Given the description of an element on the screen output the (x, y) to click on. 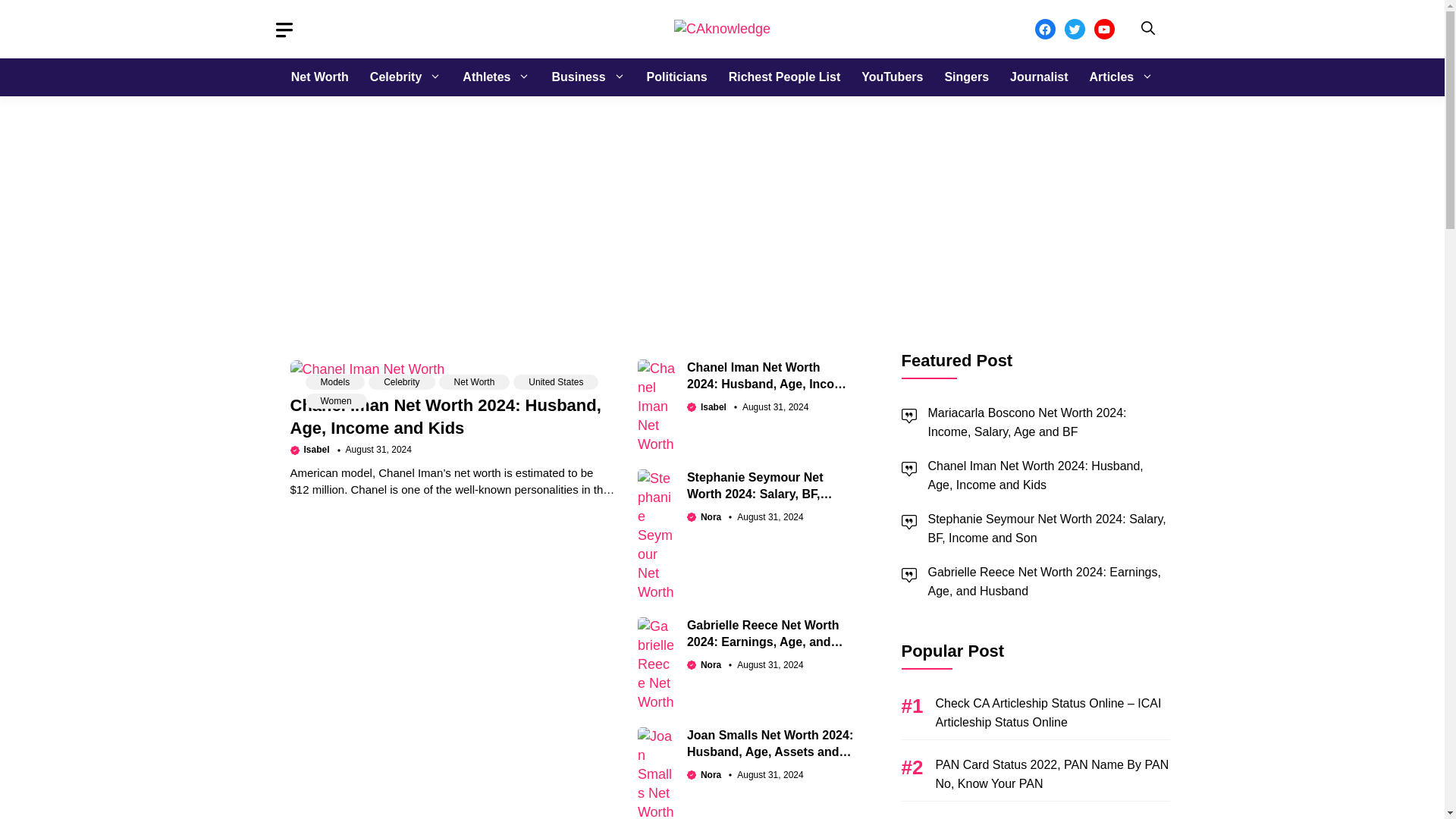
CA - Home Page (366, 369)
Facebook (1043, 28)
Celebrity (405, 77)
Athletes (495, 77)
YouTube (1103, 28)
Business (587, 77)
Politicians (676, 77)
Twitter (1074, 28)
Net Worth (319, 77)
